Given the description of an element on the screen output the (x, y) to click on. 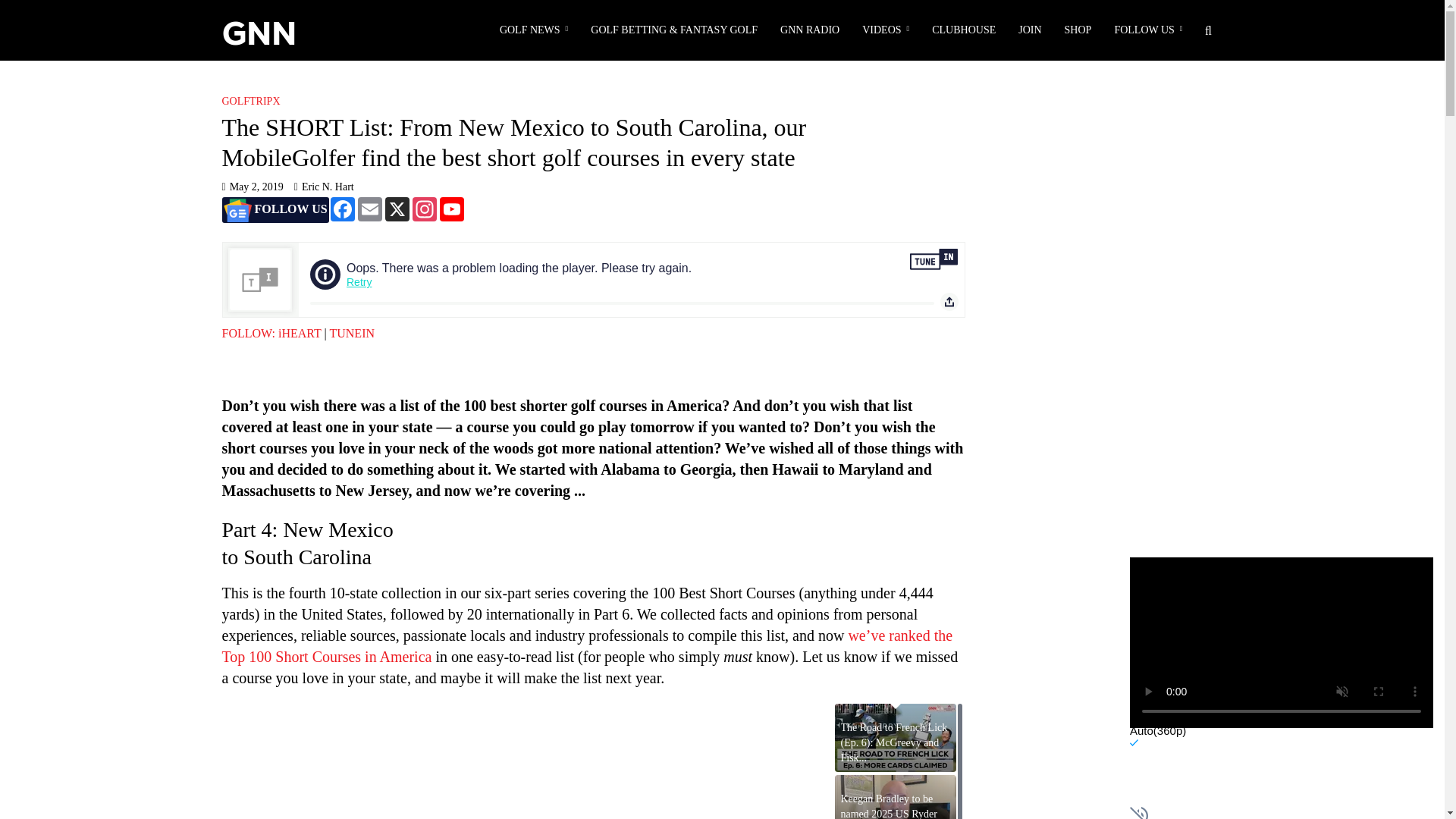
VIDEOS (885, 30)
SHOP (1077, 30)
JOIN (1029, 30)
GOLF NEWS (533, 30)
GNN RADIO (809, 30)
CLUBHOUSE (963, 30)
GNN Radio player (592, 279)
FOLLOW US (1147, 30)
